Given the description of an element on the screen output the (x, y) to click on. 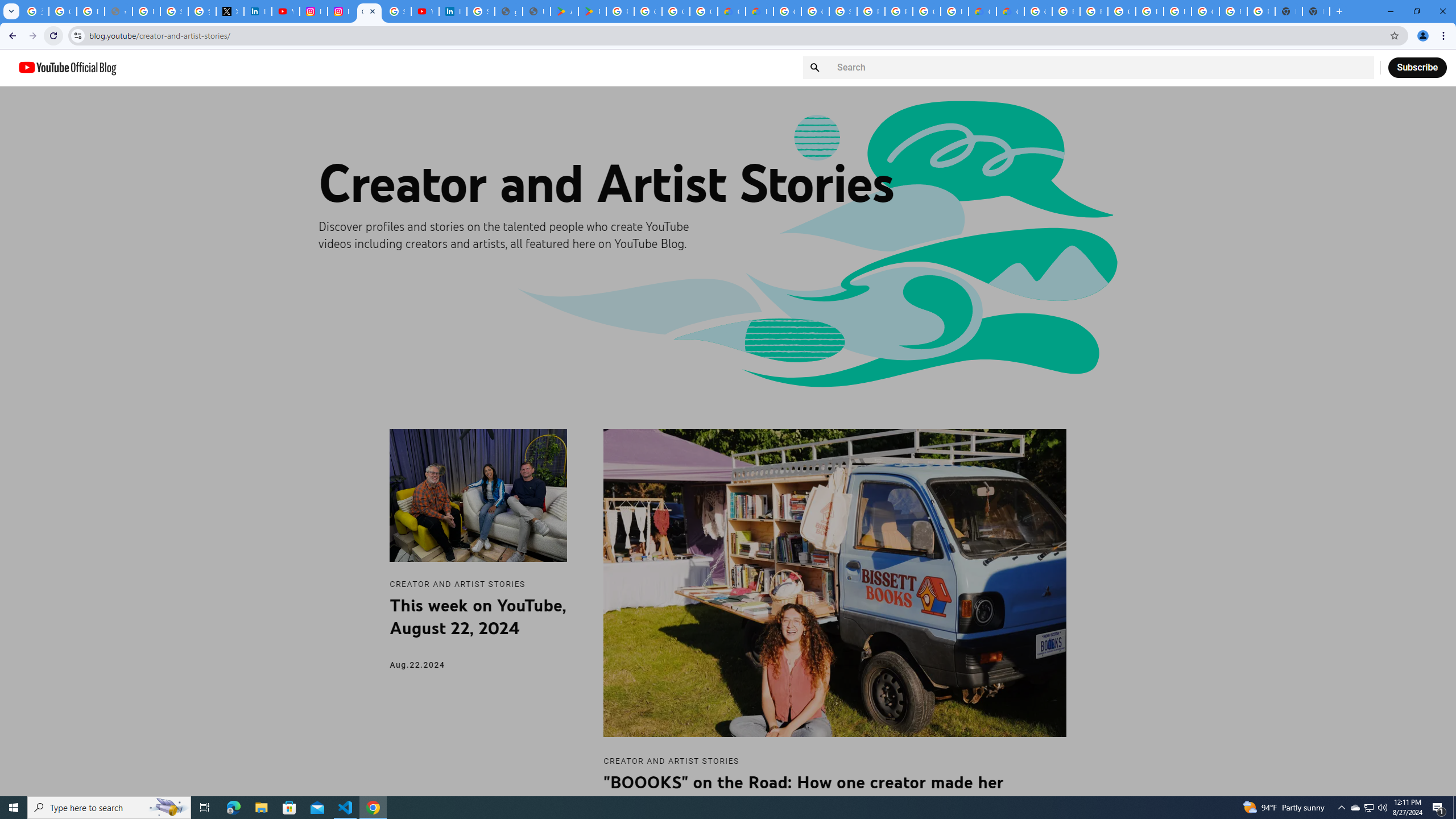
Customer Care | Google Cloud (982, 11)
Google Cloud Platform (787, 11)
Sign in - Google Accounts (480, 11)
Sign in - Google Accounts (397, 11)
Browse Chrome as a guest - Computer - Google Chrome Help (1093, 11)
Android Apps on Google Play (564, 11)
Privacy Help Center - Policies Help (146, 11)
Sign in - Google Accounts (174, 11)
